Given the description of an element on the screen output the (x, y) to click on. 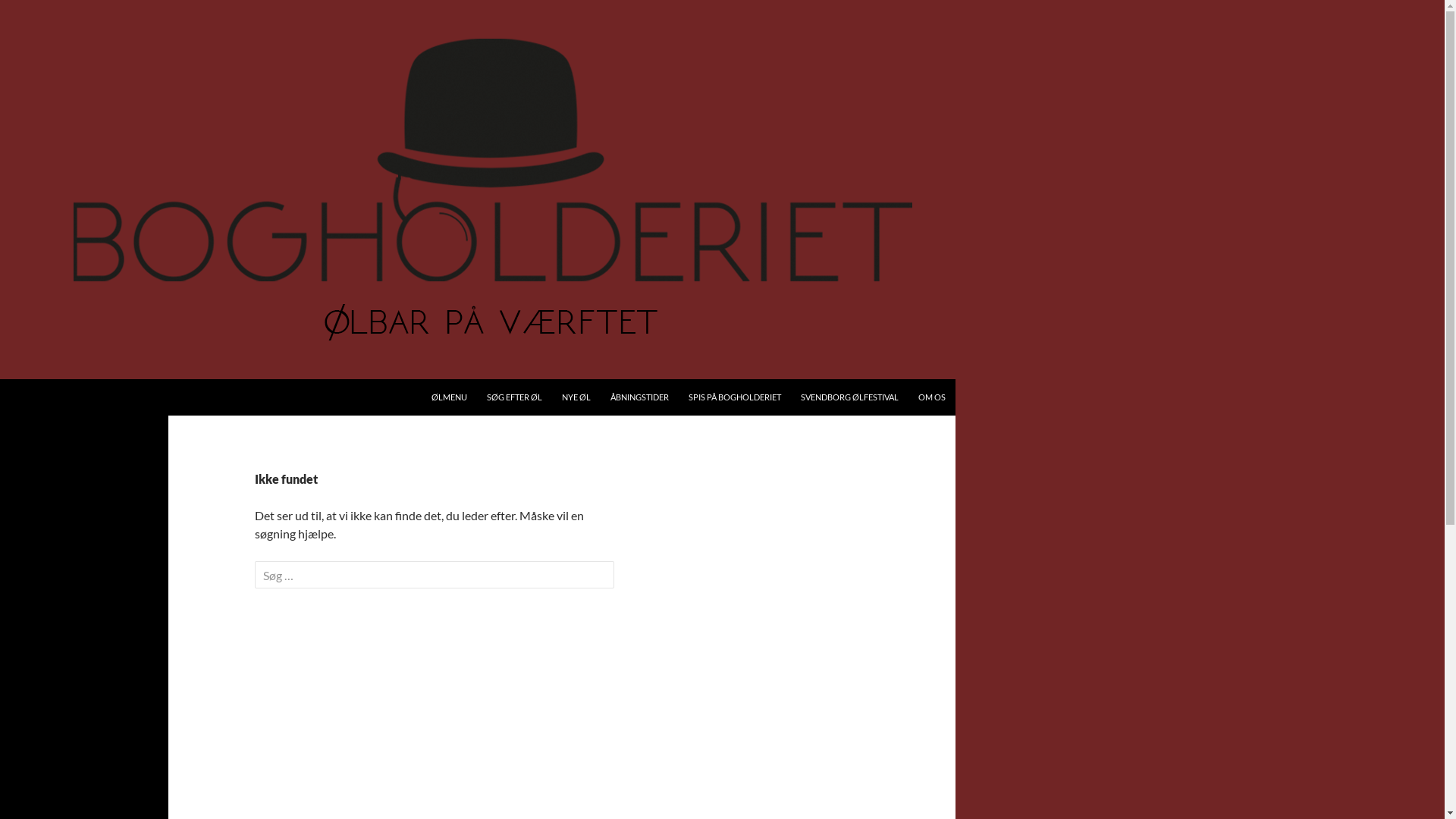
Bogholderiet Element type: text (62, 397)
HOP TIL INDHOLD Element type: text (430, 378)
OM OS Element type: text (931, 397)
